Given the description of an element on the screen output the (x, y) to click on. 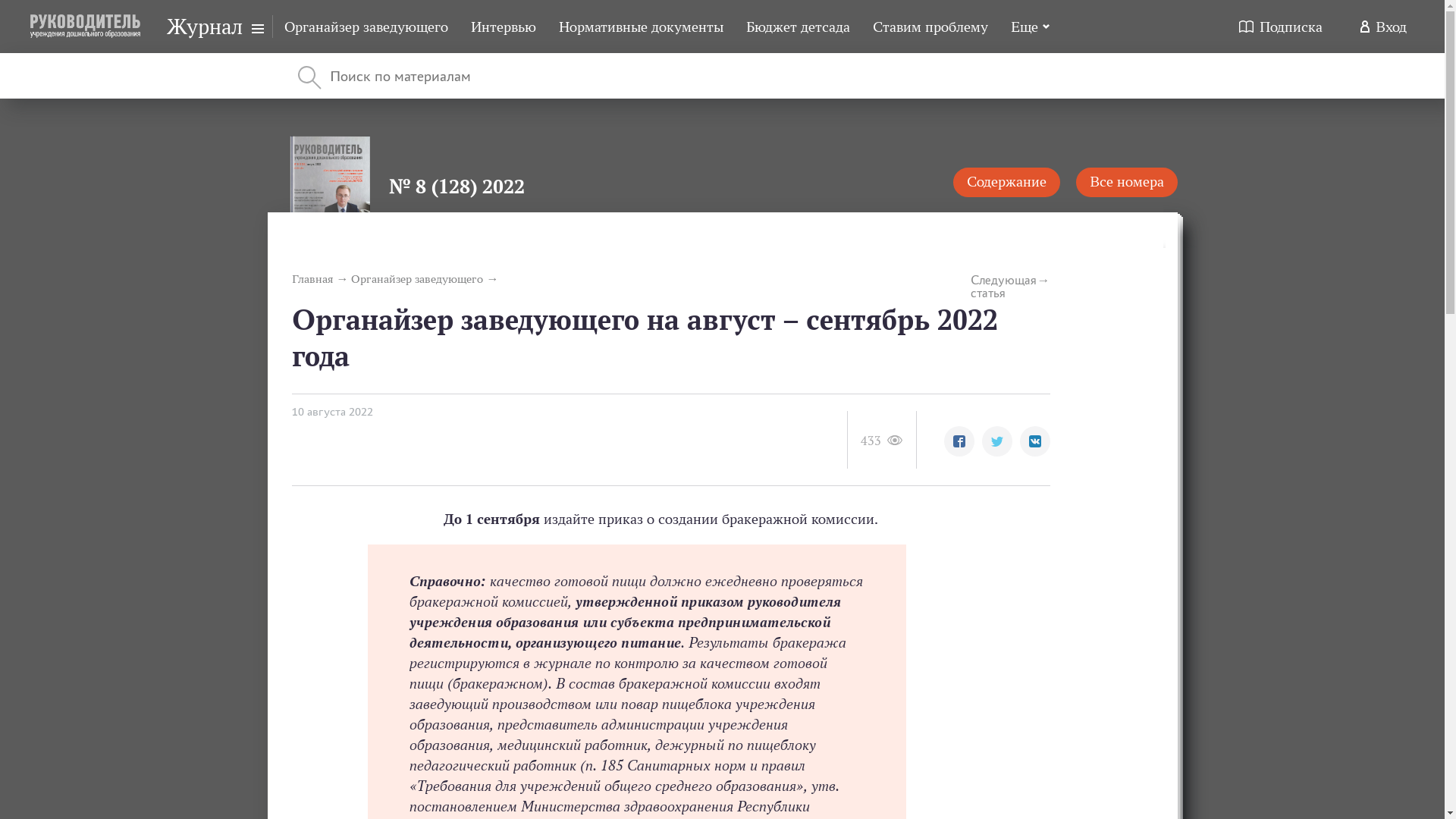
Share link on Twitter Element type: hover (996, 441)
Share link on Vkontakte Element type: hover (1034, 441)
Share link on Facebook Element type: hover (958, 441)
